Given the description of an element on the screen output the (x, y) to click on. 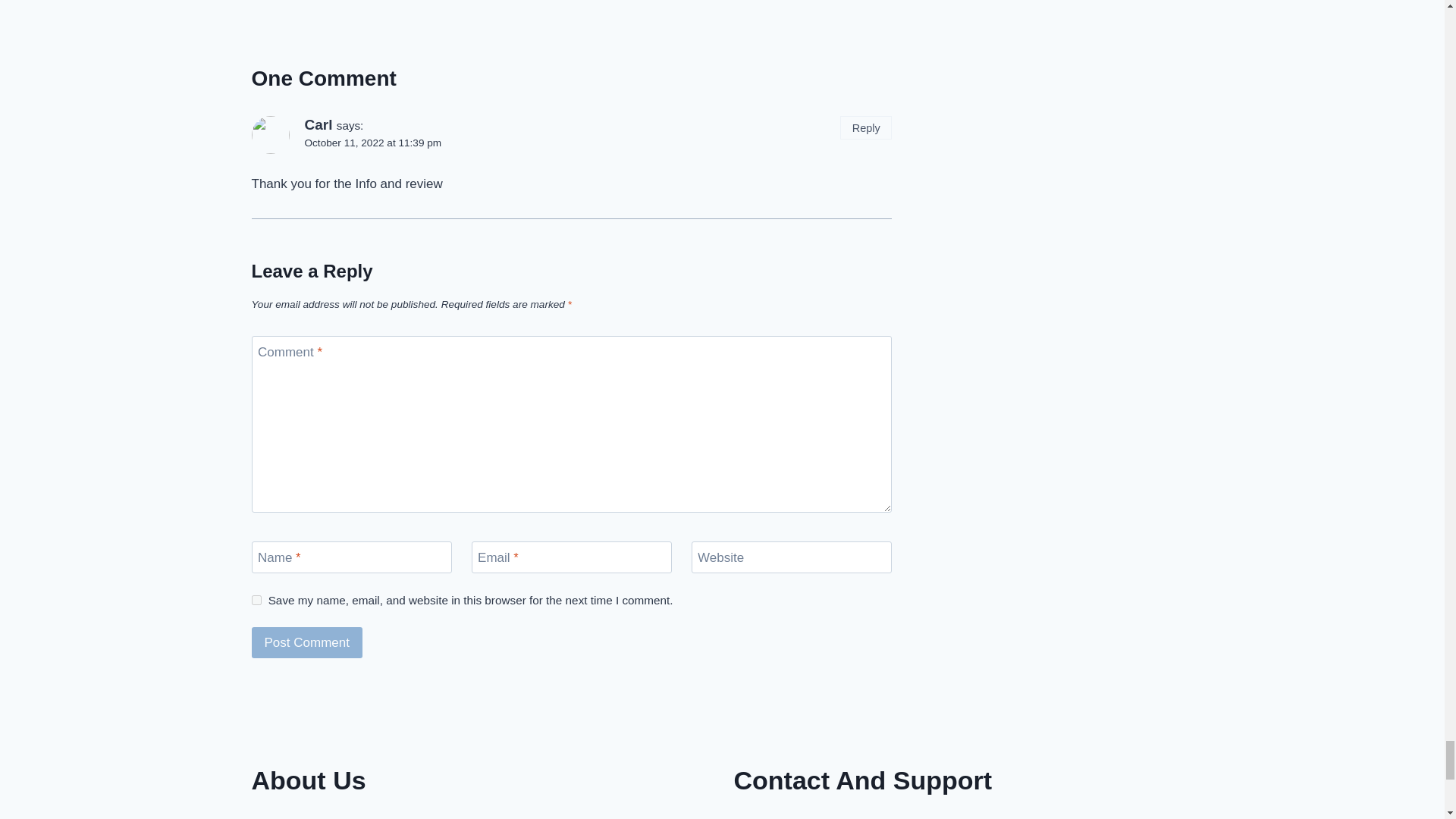
yes (256, 600)
Post Comment (306, 642)
